Given the description of an element on the screen output the (x, y) to click on. 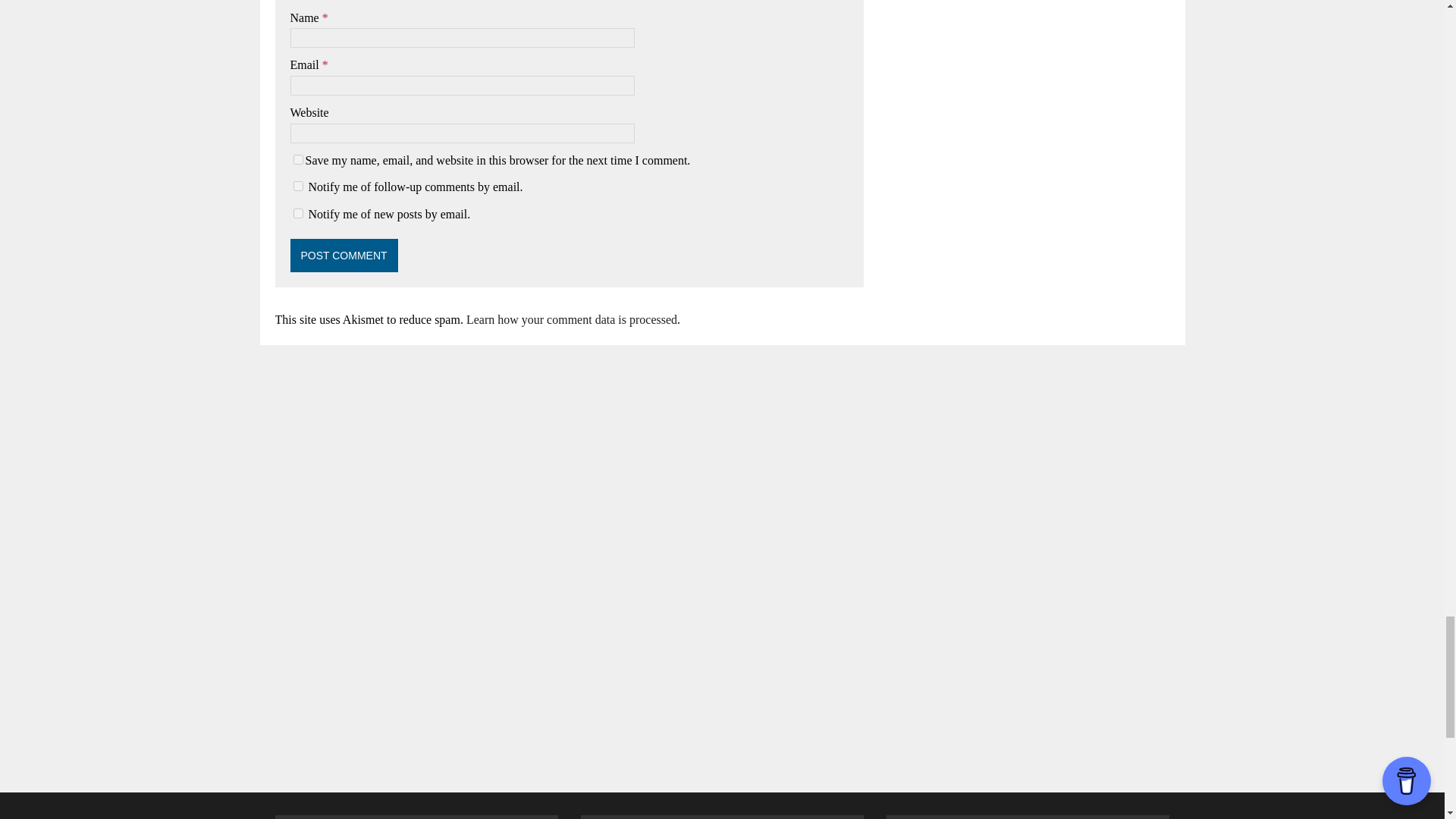
yes (297, 159)
subscribe (297, 185)
subscribe (297, 213)
Post Comment (343, 255)
